Given the description of an element on the screen output the (x, y) to click on. 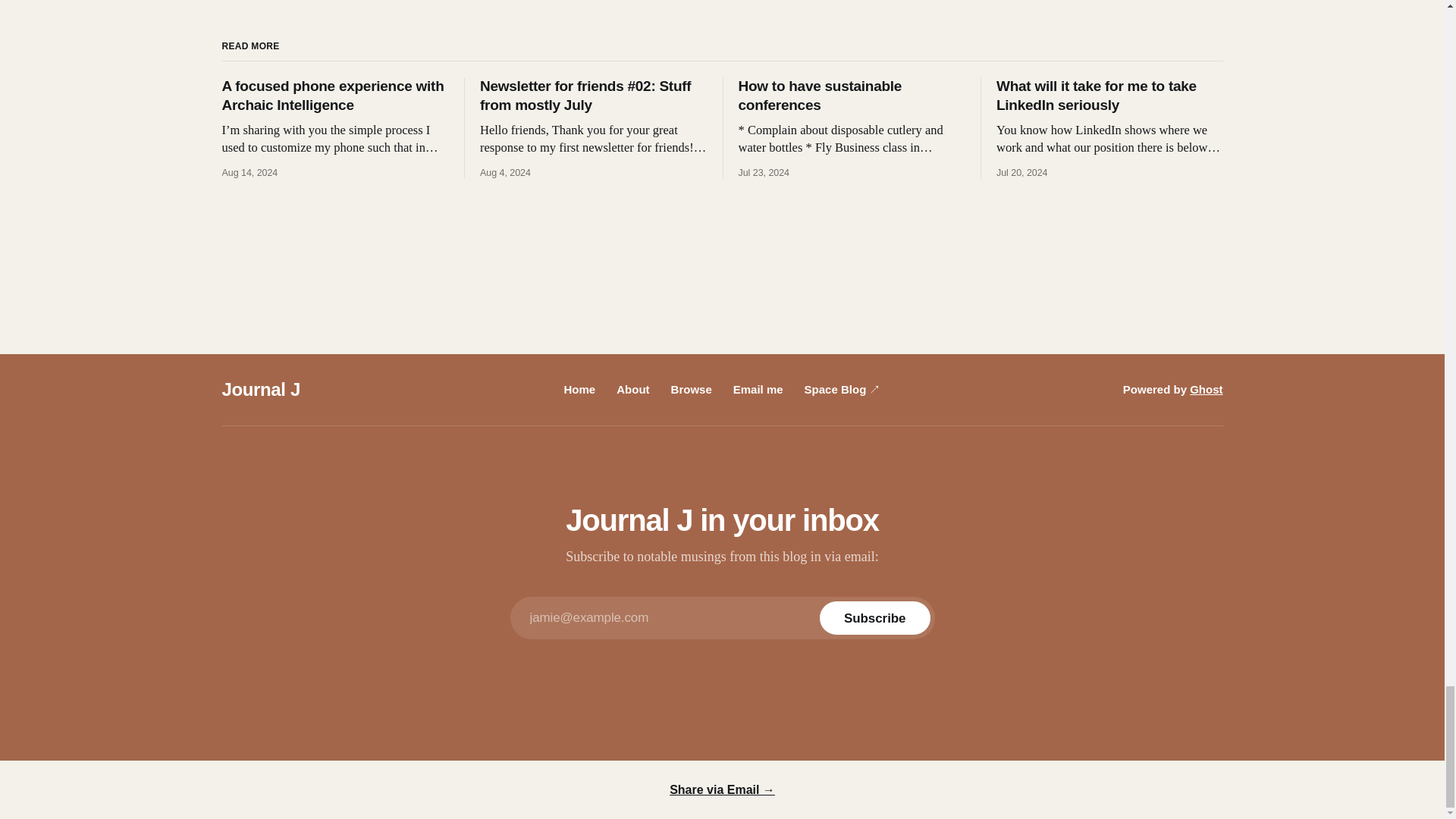
Subscribe (874, 617)
Ghost (1206, 389)
About (632, 389)
Email me (758, 389)
Browse (691, 389)
Home (579, 389)
